Given the description of an element on the screen output the (x, y) to click on. 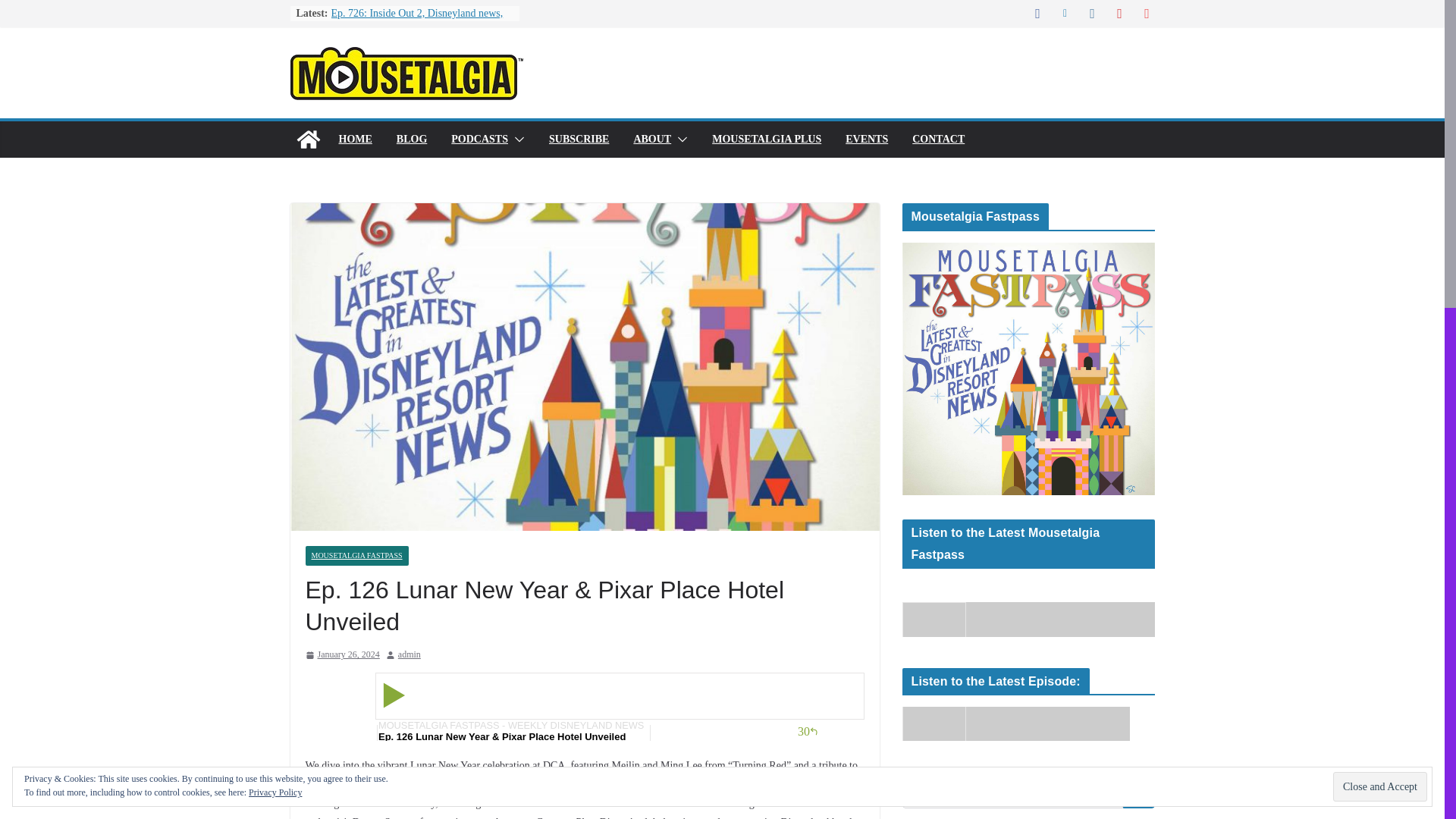
Close and Accept (1379, 786)
SUBSCRIBE (578, 138)
ABOUT (652, 138)
CONTACT (937, 138)
admin (408, 655)
3:25 pm (341, 655)
January 26, 2024 (341, 655)
admin (408, 655)
BLOG (411, 138)
PODCASTS (479, 138)
MOUSETALGIA PLUS (766, 138)
HOME (354, 138)
EVENTS (866, 138)
